Given the description of an element on the screen output the (x, y) to click on. 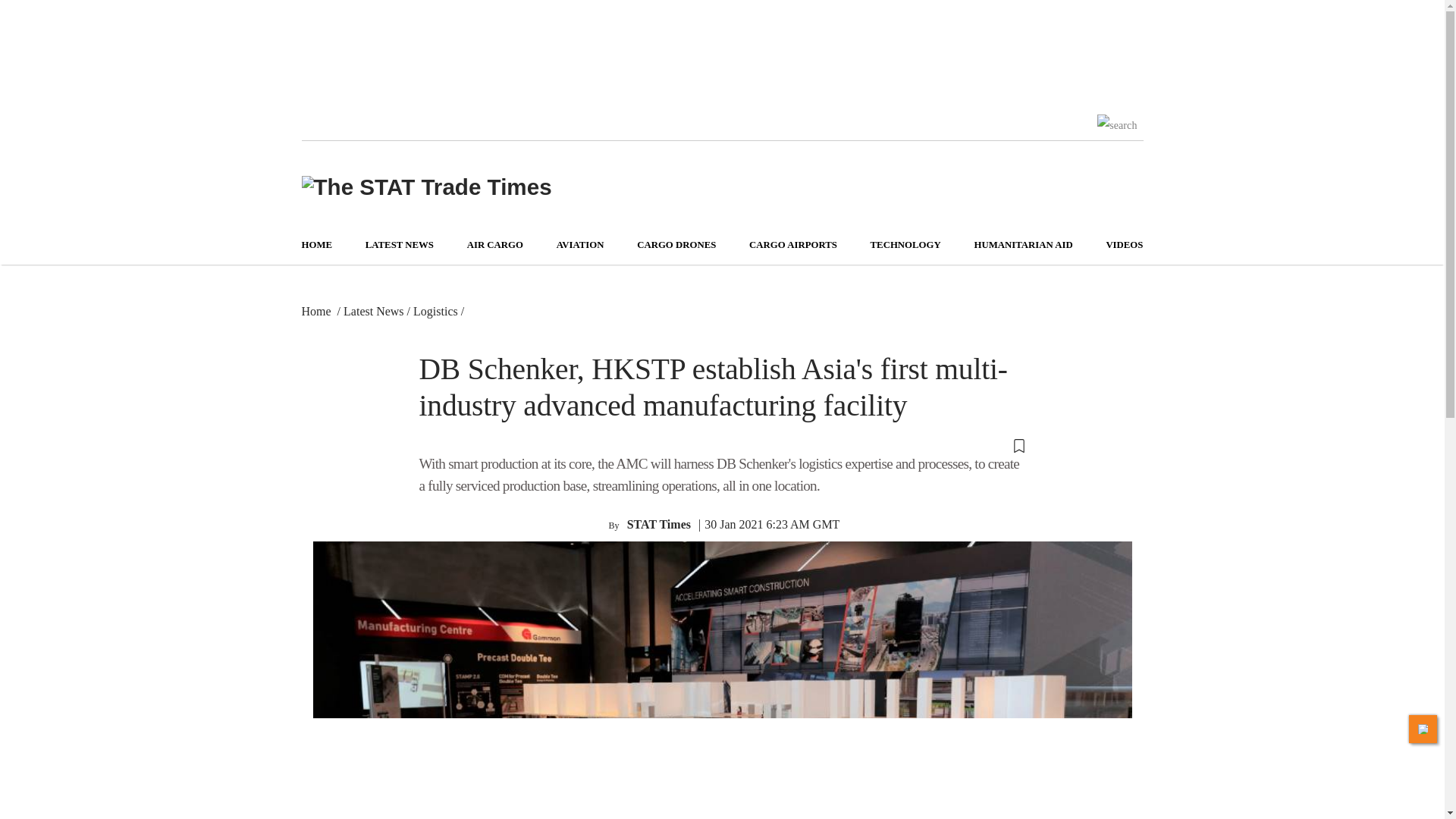
AIR CARGO (494, 245)
HOME (317, 245)
TECHNOLOGY (905, 245)
AVIATION (580, 245)
LATEST NEWS (399, 245)
CARGO DRONES (676, 245)
VIDEOS (1123, 245)
CARGO AIRPORTS (793, 245)
The STAT Trade Times (426, 187)
